Given the description of an element on the screen output the (x, y) to click on. 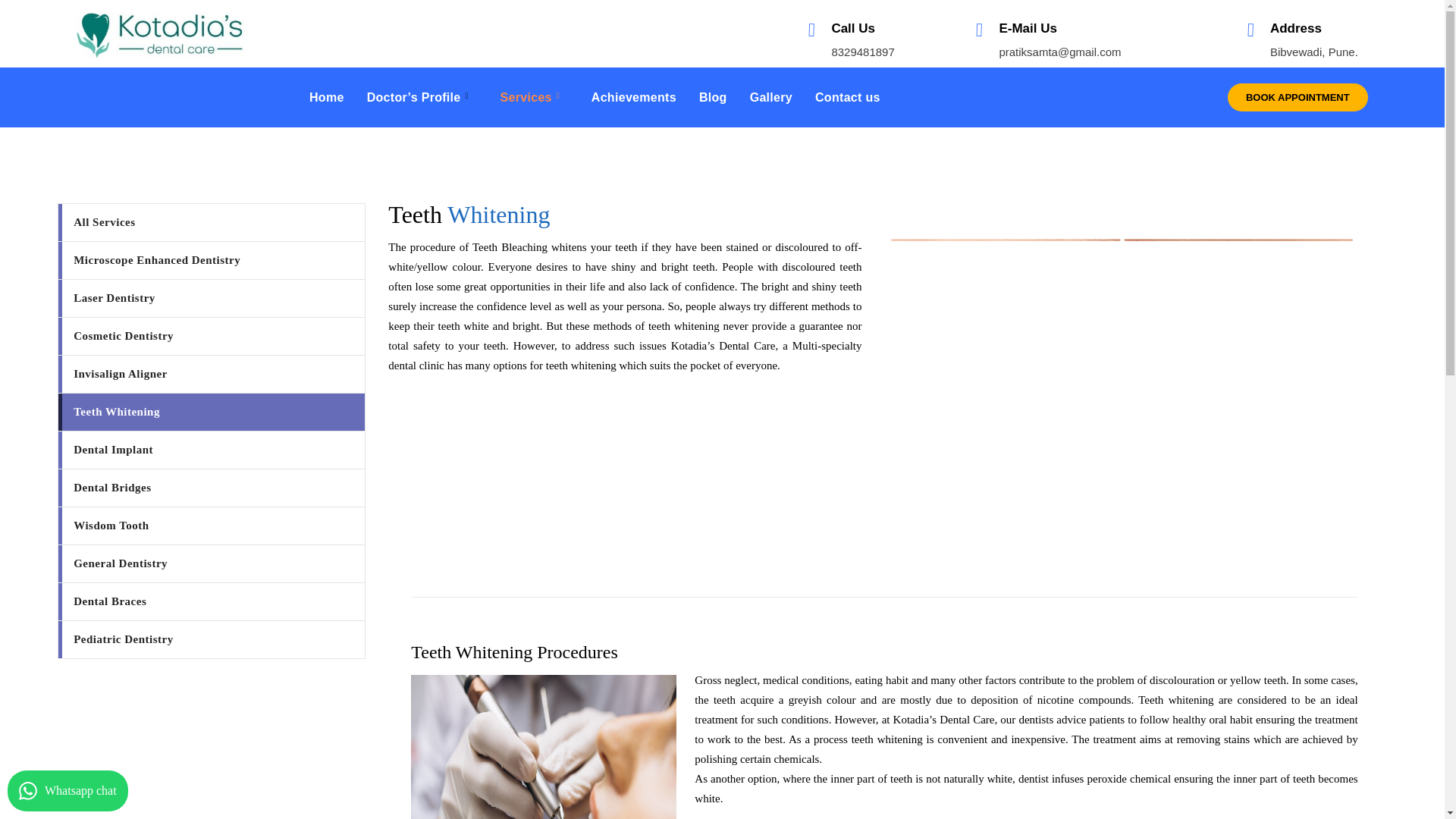
Dental Implant (211, 449)
Laser Dentistry (211, 298)
Teeth Whitening (211, 411)
All Services (211, 221)
BOOK APPOINTMENT (1297, 97)
Cosmetic Dentistry (211, 335)
General Dentistry (211, 563)
Dental Bridges (211, 487)
Blog (712, 97)
Dental Braces (211, 601)
